Given the description of an element on the screen output the (x, y) to click on. 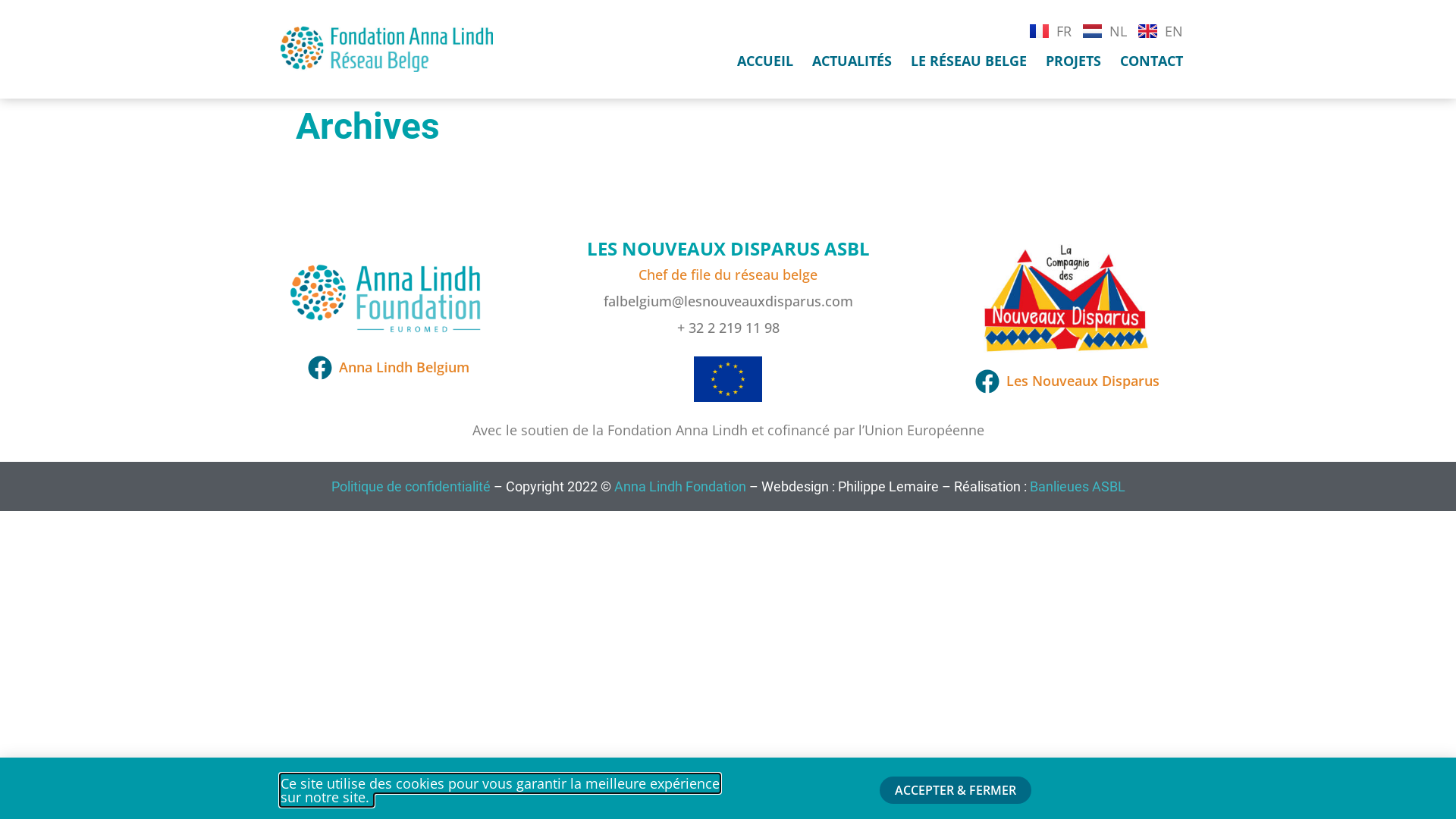
CONTACT Element type: text (1151, 60)
NL Element type: text (1104, 30)
FR Element type: text (1050, 30)
EN Element type: text (1160, 30)
Banlieues ASBL Element type: text (1077, 486)
PROJETS Element type: text (1073, 60)
Les Nouveaux Disparus Element type: text (1065, 380)
Anna Lindh Fondation Element type: text (680, 486)
Anna Lindh Belgium Element type: text (386, 367)
ACCUEIL Element type: text (765, 60)
ACCEPTER & FERMER Element type: text (955, 789)
